Given the description of an element on the screen output the (x, y) to click on. 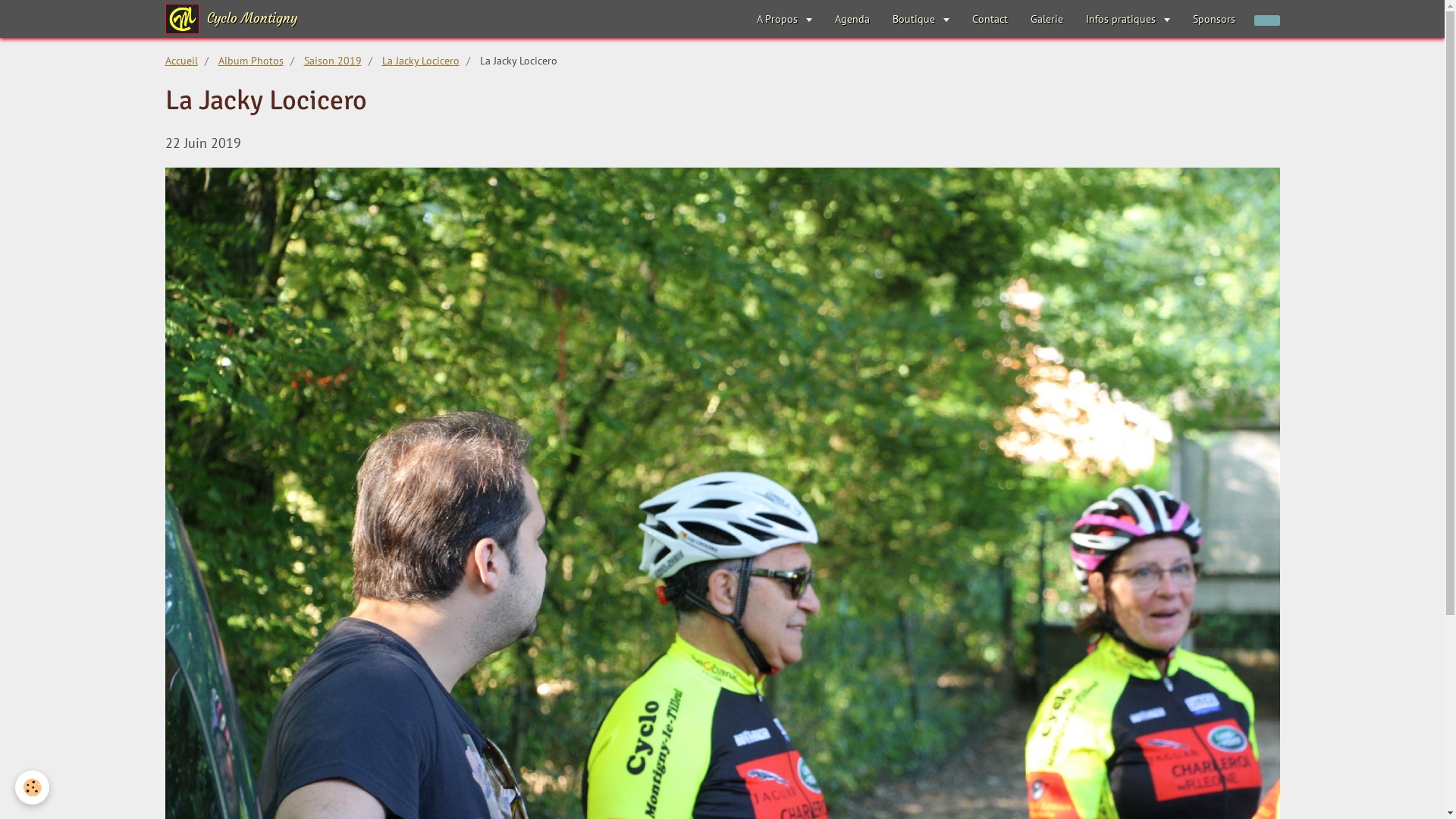
Accueil Element type: text (181, 60)
A Propos Element type: text (783, 18)
Album Photos Element type: text (250, 60)
Cyclo Montigny Element type: text (231, 18)
La Jacky Locicero Element type: text (420, 60)
Contact Element type: text (989, 18)
Saison 2019 Element type: text (331, 60)
Boutique Element type: text (920, 18)
Galerie Element type: text (1046, 18)
Infos pratiques Element type: text (1126, 18)
Agenda Element type: text (852, 18)
Sponsors Element type: text (1213, 18)
